Given the description of an element on the screen output the (x, y) to click on. 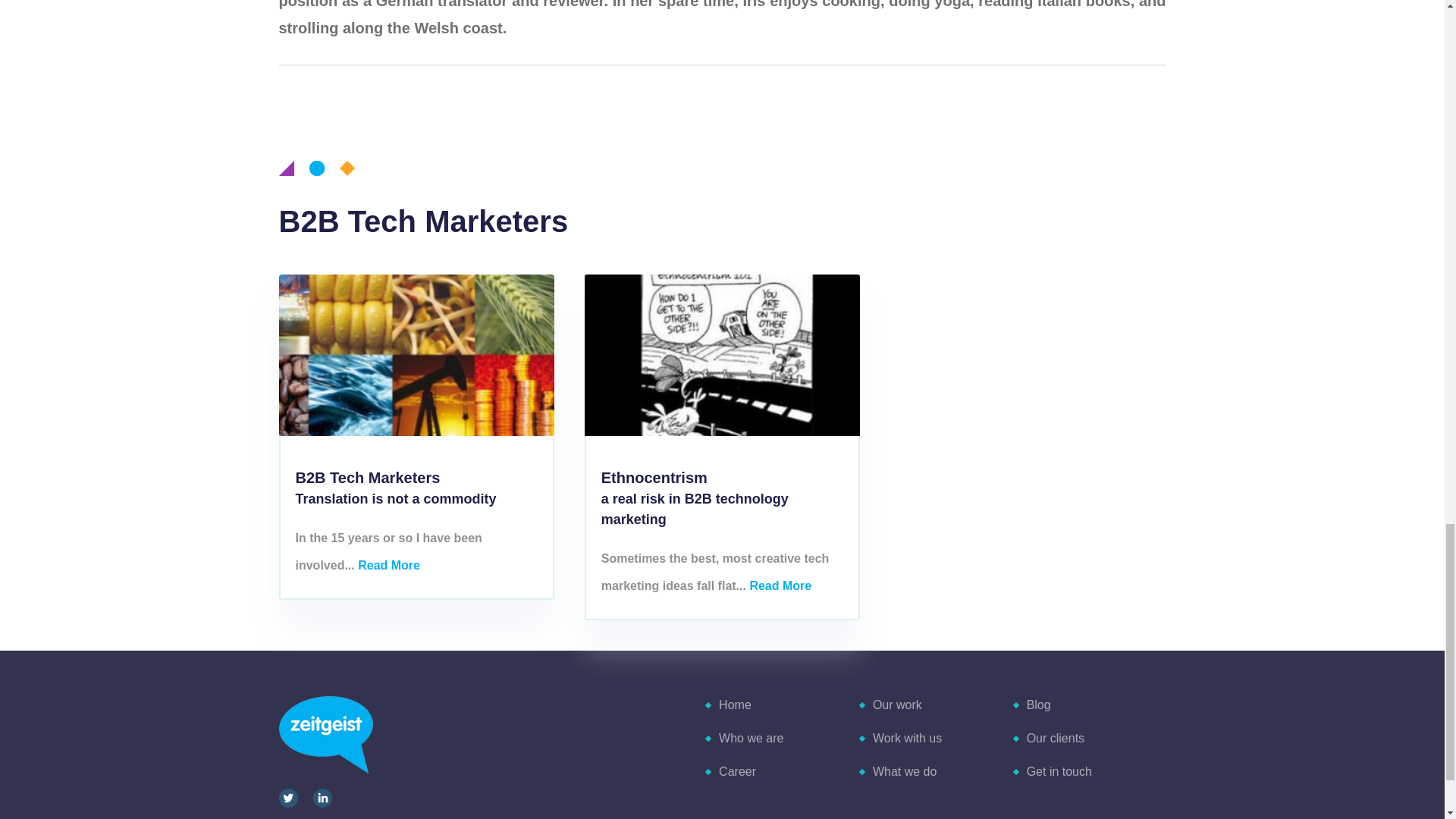
Linked In (322, 797)
Who we are (750, 738)
Read More (779, 585)
What we do (903, 771)
Blog (1038, 704)
Twitter (288, 797)
Get in touch (1058, 771)
Our work (895, 704)
Read More (389, 564)
Home (734, 704)
Our clients (1054, 738)
Career (736, 771)
Work with us (906, 738)
